Given the description of an element on the screen output the (x, y) to click on. 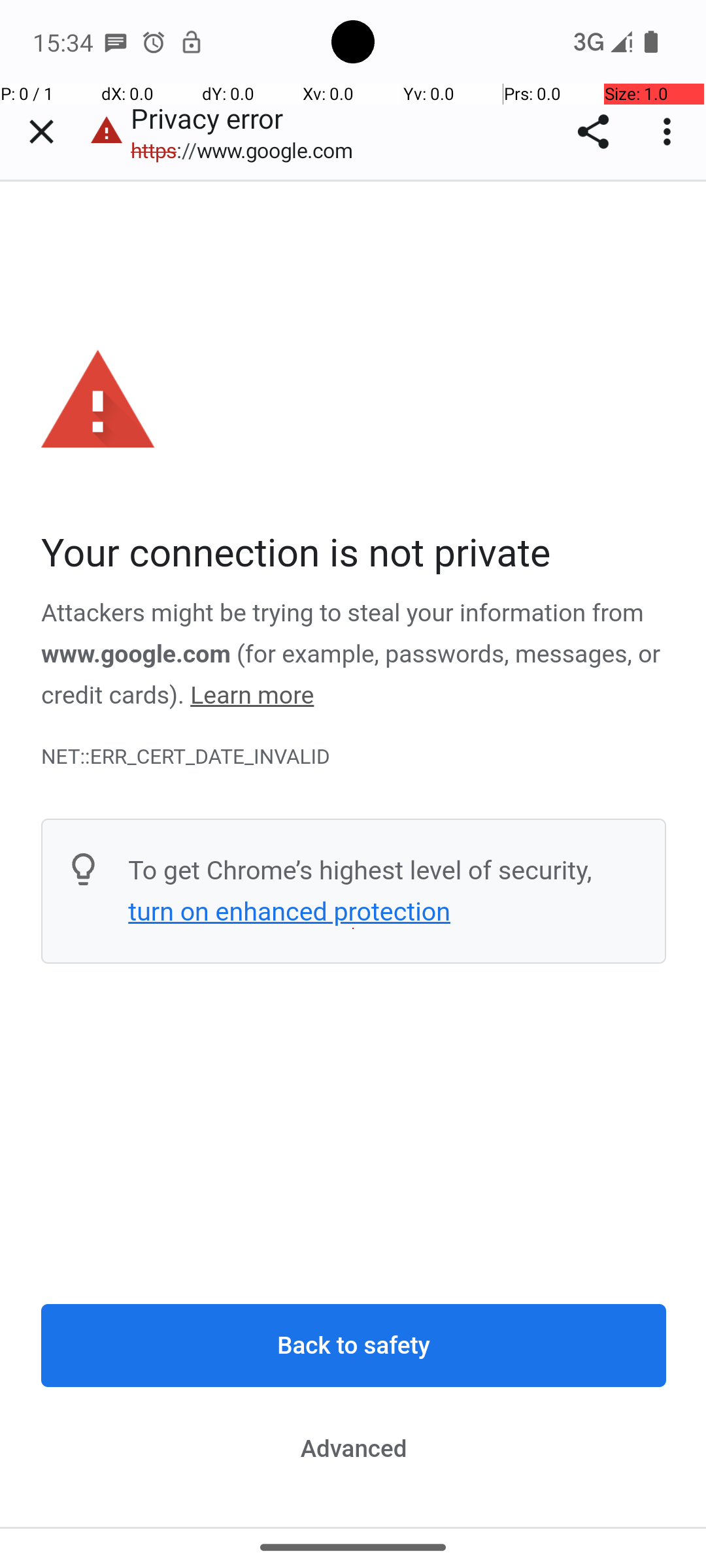
https://www.google.com Element type: android.widget.TextView (248, 149)
www.google.com Element type: android.widget.TextView (136, 653)
